Given the description of an element on the screen output the (x, y) to click on. 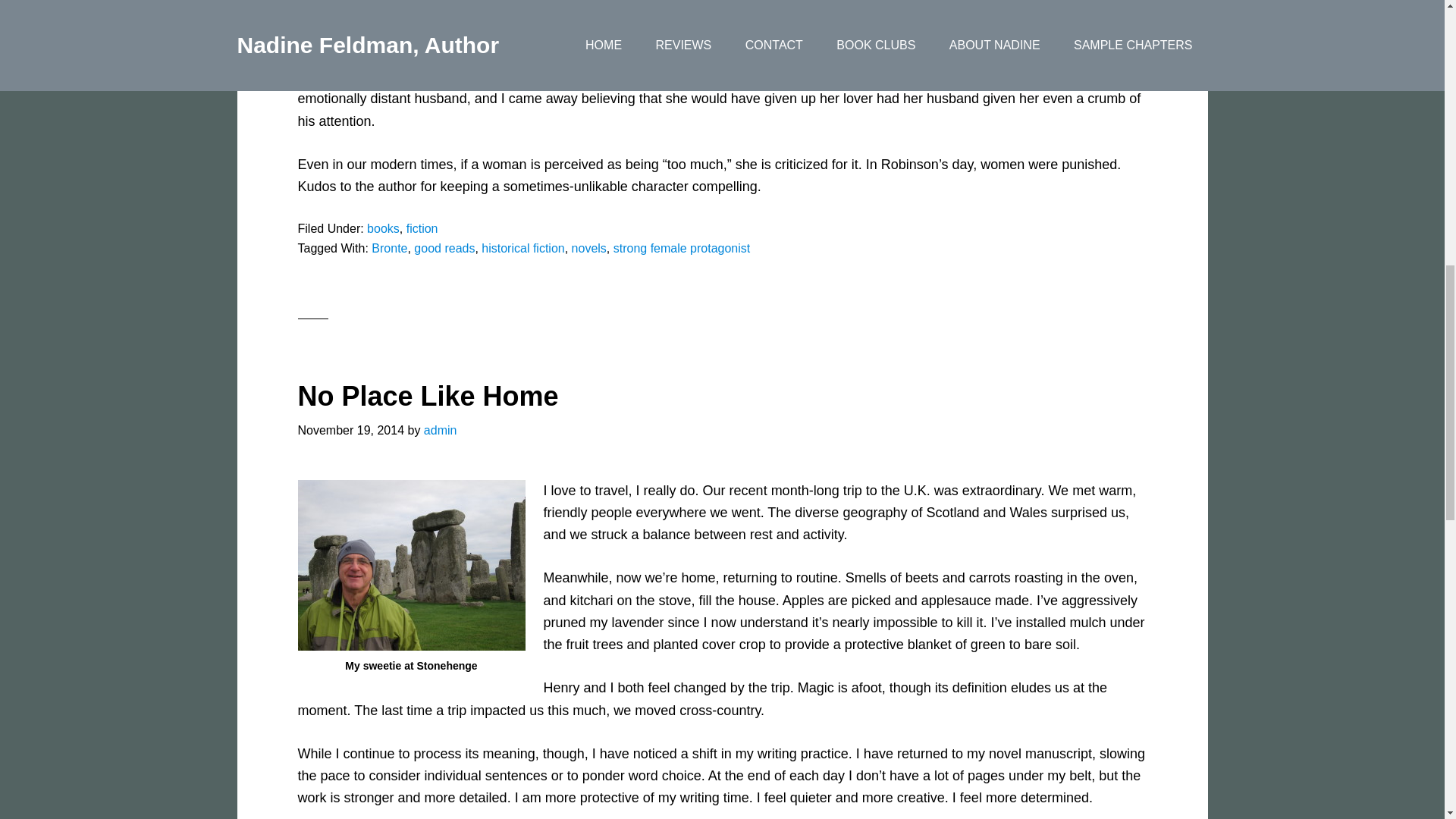
fiction (422, 228)
good reads (443, 247)
strong female protagonist (681, 247)
historical fiction (522, 247)
admin (440, 430)
books (382, 228)
Bronte (389, 247)
novels (589, 247)
No Place Like Home (427, 395)
